Given the description of an element on the screen output the (x, y) to click on. 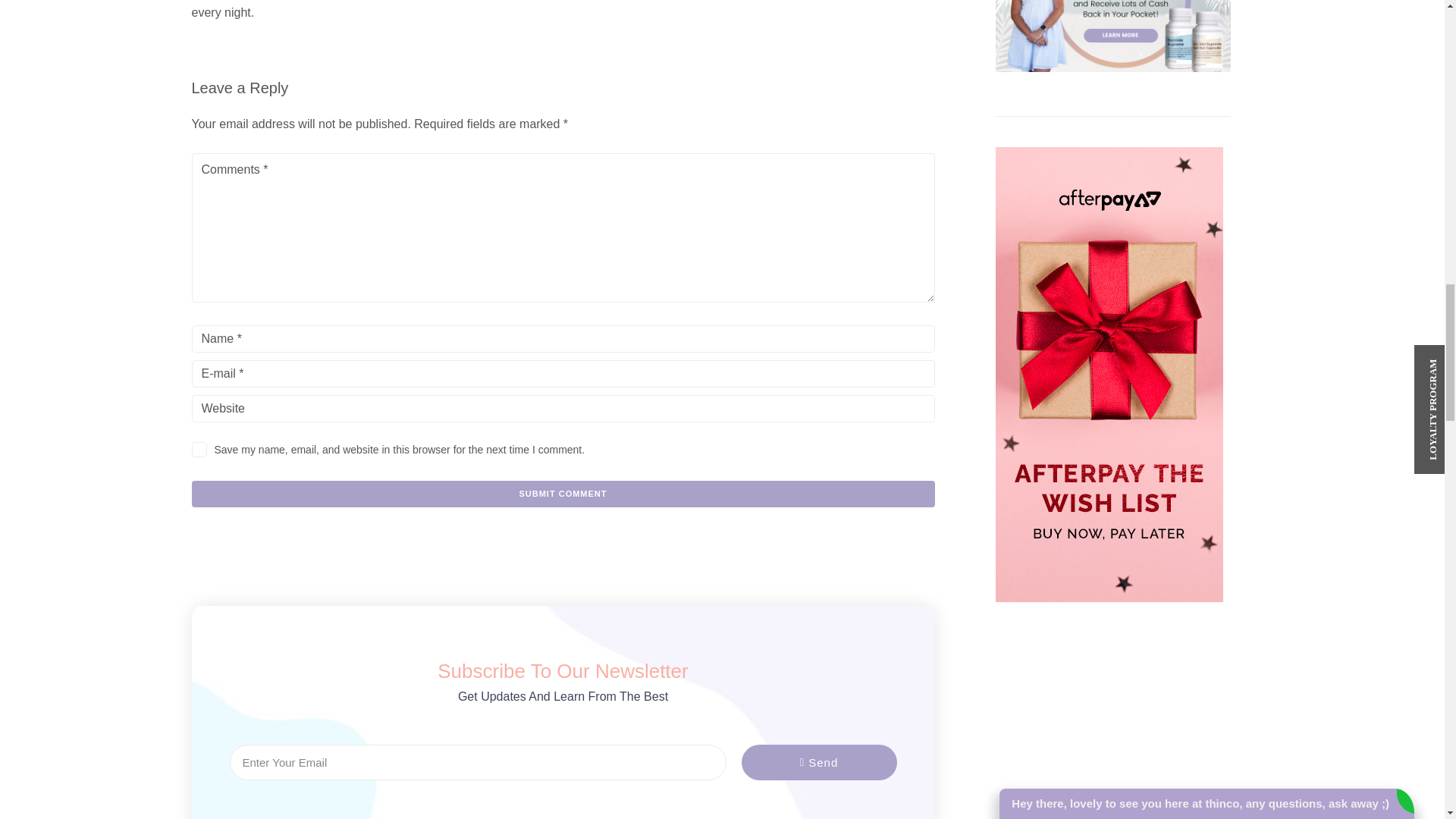
Submit Comment (562, 493)
